Given the description of an element on the screen output the (x, y) to click on. 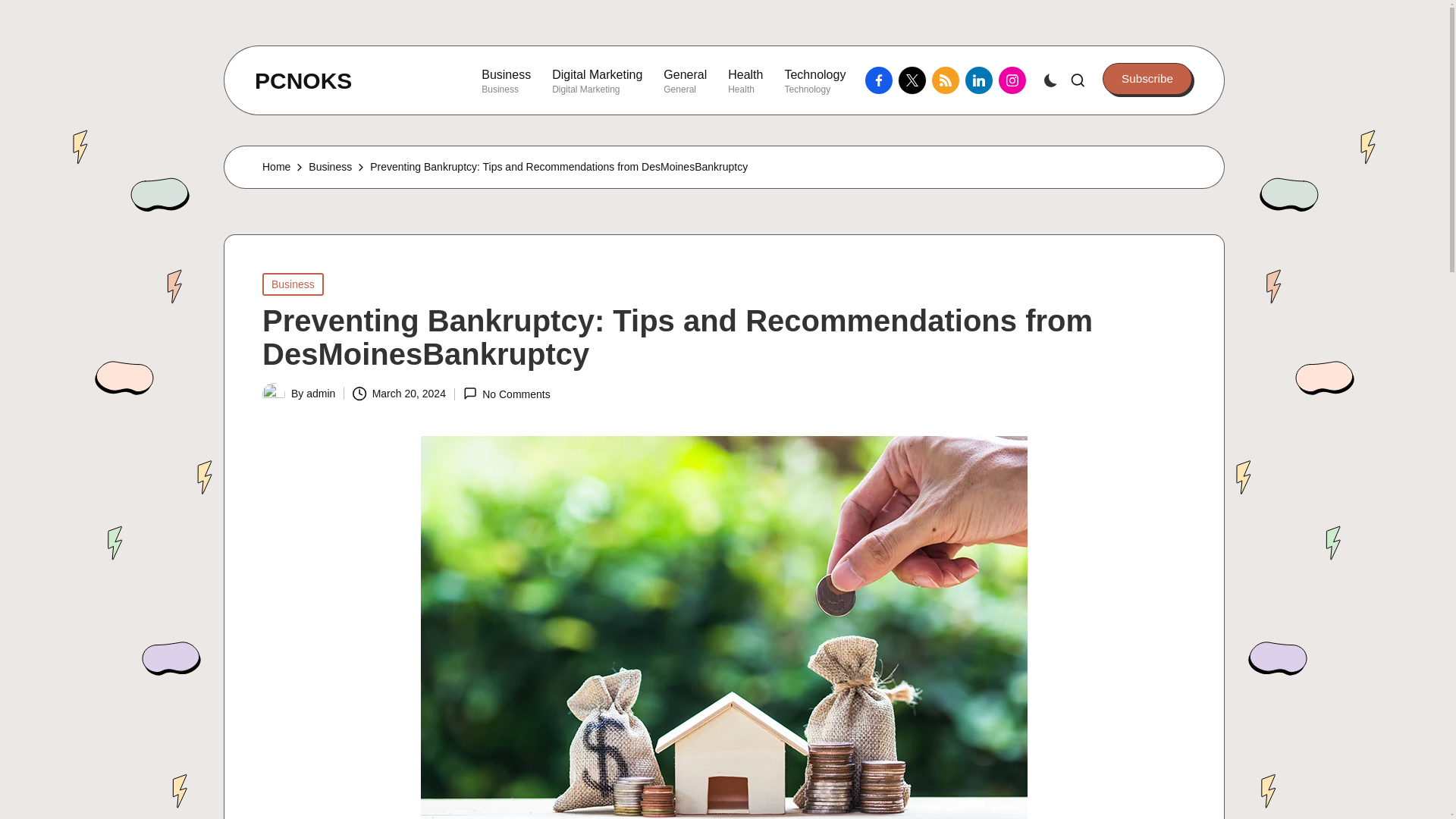
Business (330, 167)
Business (684, 80)
instagram.com (292, 283)
twitter.com (1015, 80)
Subscribe (745, 80)
rss.com (914, 80)
linkedin.com (1147, 79)
